Given the description of an element on the screen output the (x, y) to click on. 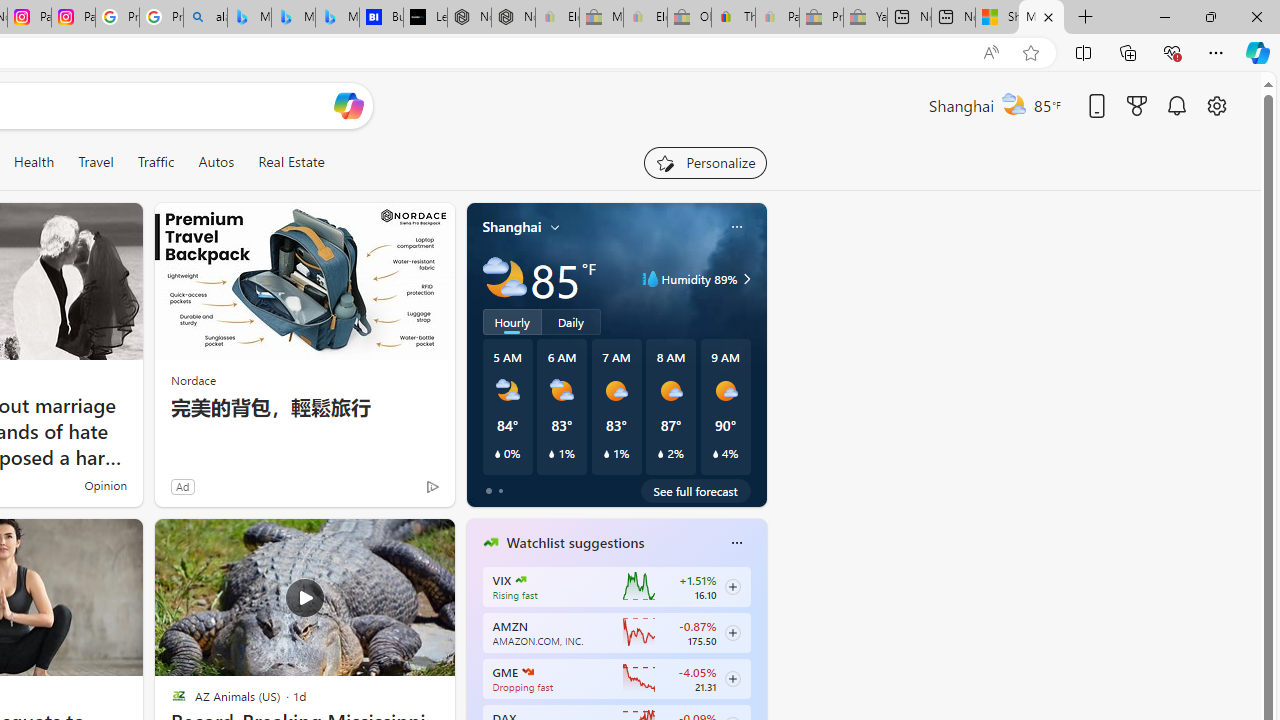
You're following The Weather Channel (390, 490)
Class: weather-arrow-glyph (746, 278)
tab-1 (500, 490)
Humidity 89% (744, 278)
